Given the description of an element on the screen output the (x, y) to click on. 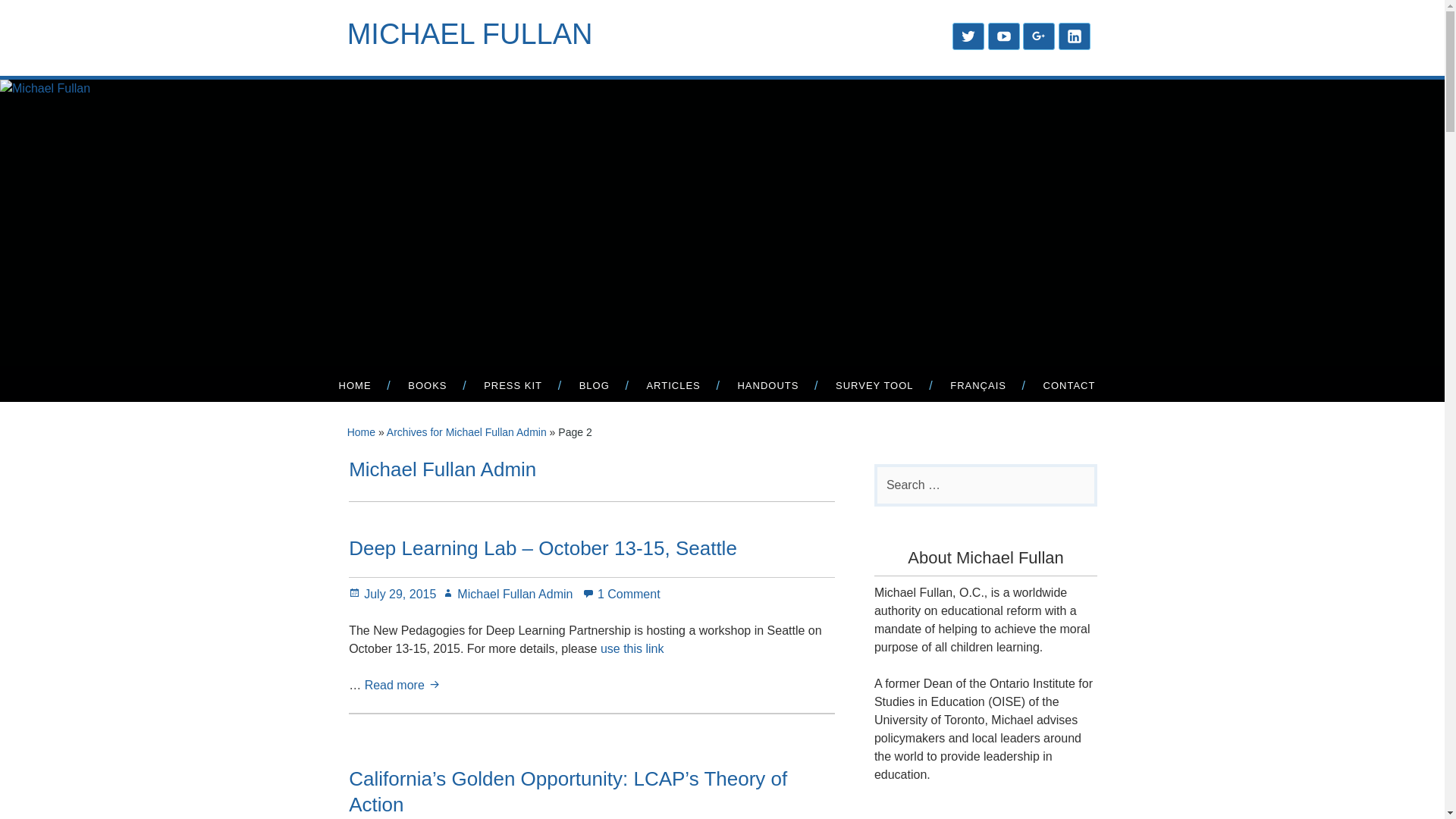
ARTICLES (672, 384)
Google Plus (1038, 35)
Twitter (967, 35)
BLOG (594, 384)
HANDOUTS (767, 384)
SURVEY TOOL (874, 384)
BOOKS (427, 384)
PRESS KIT (513, 384)
July 29, 2015 (392, 594)
CONTACT (1069, 384)
YouTube (1003, 35)
Archives for Michael Fullan Admin (467, 431)
Michael Fullan Admin (507, 594)
HOME (354, 384)
MICHAEL FULLAN (469, 33)
